Given the description of an element on the screen output the (x, y) to click on. 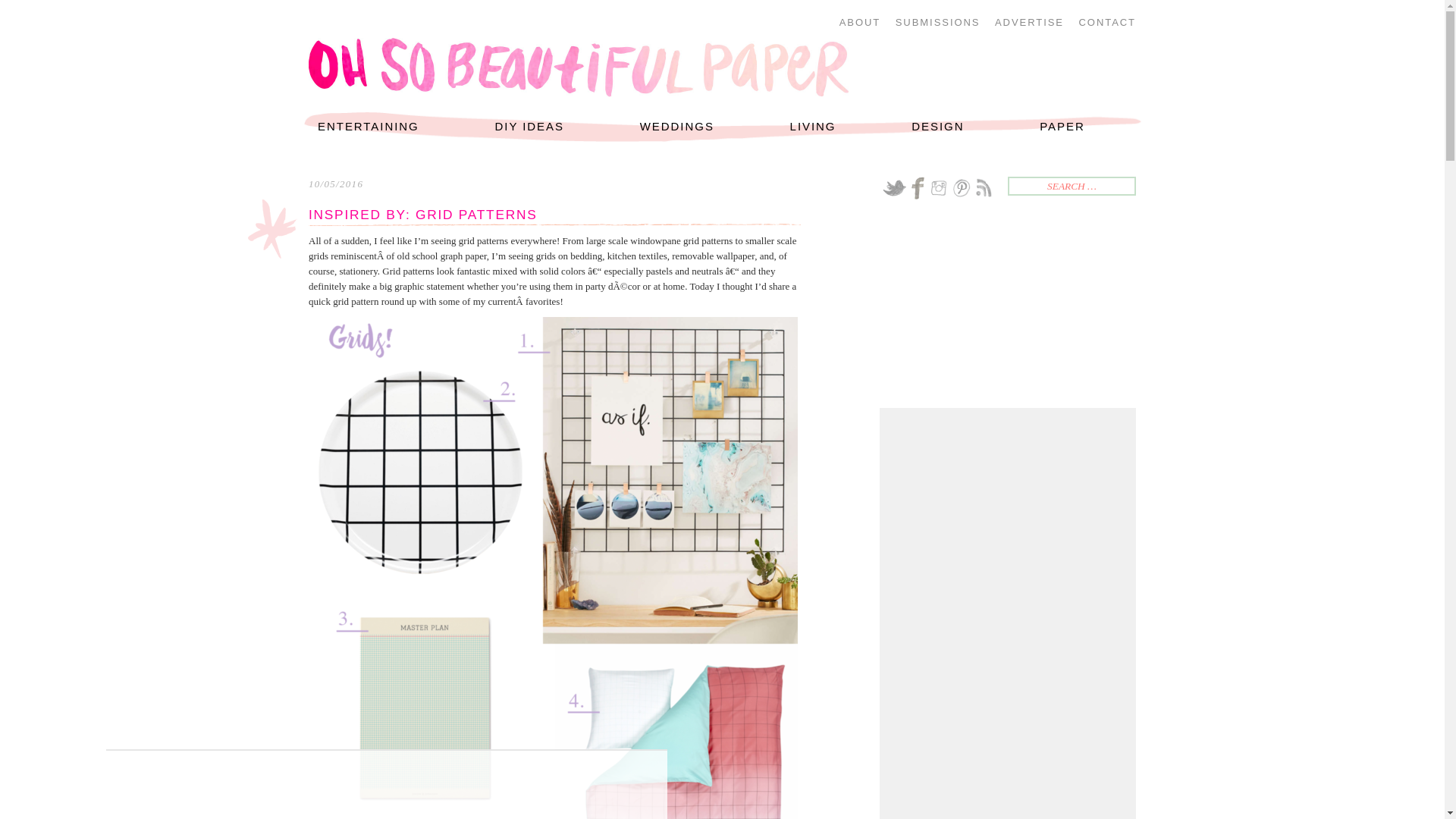
3rd party ad content (1008, 714)
3rd party ad content (1008, 510)
PAPER (1061, 126)
ENTERTAINING (369, 126)
LIVING (812, 126)
ABOUT (860, 22)
WEDDINGS (676, 126)
DIY IDEAS (529, 126)
DESIGN (937, 126)
